Given the description of an element on the screen output the (x, y) to click on. 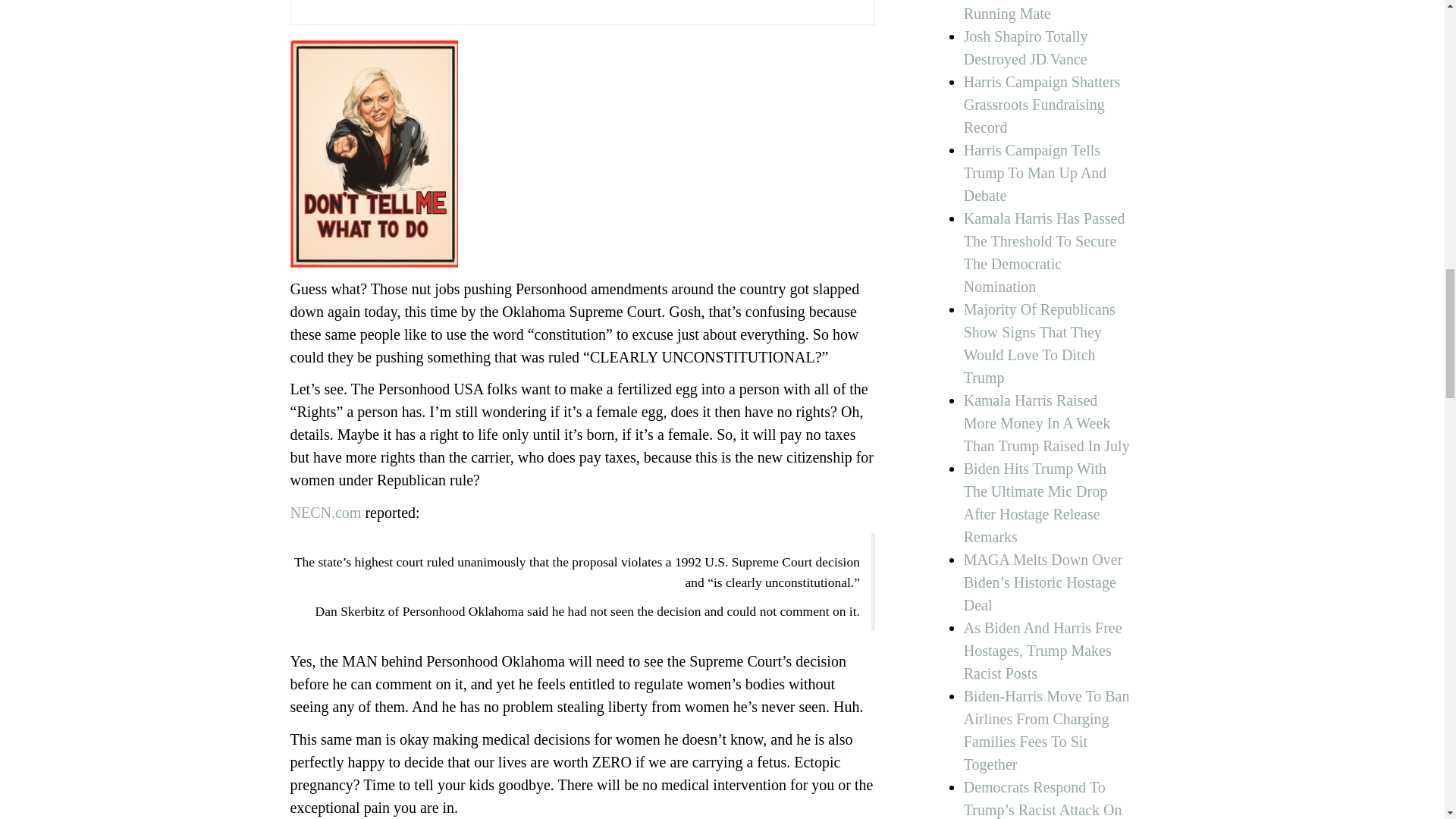
You Don't Tell Me What to Do feminism poster (373, 153)
NECN.com (325, 512)
